Given the description of an element on the screen output the (x, y) to click on. 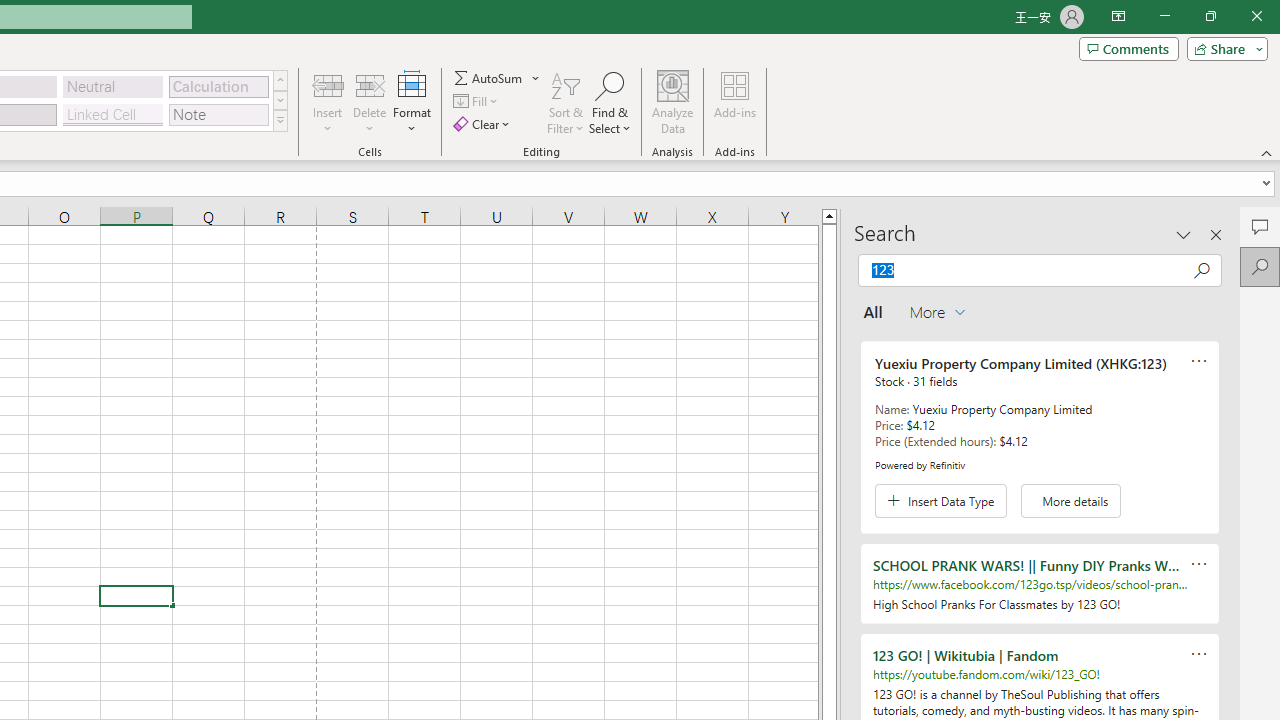
Calculation (218, 86)
Clear (483, 124)
Find & Select (610, 102)
Row Down (280, 100)
Neutral (113, 86)
Linked Cell (113, 114)
AutoSum (497, 78)
Sort & Filter (566, 102)
Delete Cells... (369, 84)
